Given the description of an element on the screen output the (x, y) to click on. 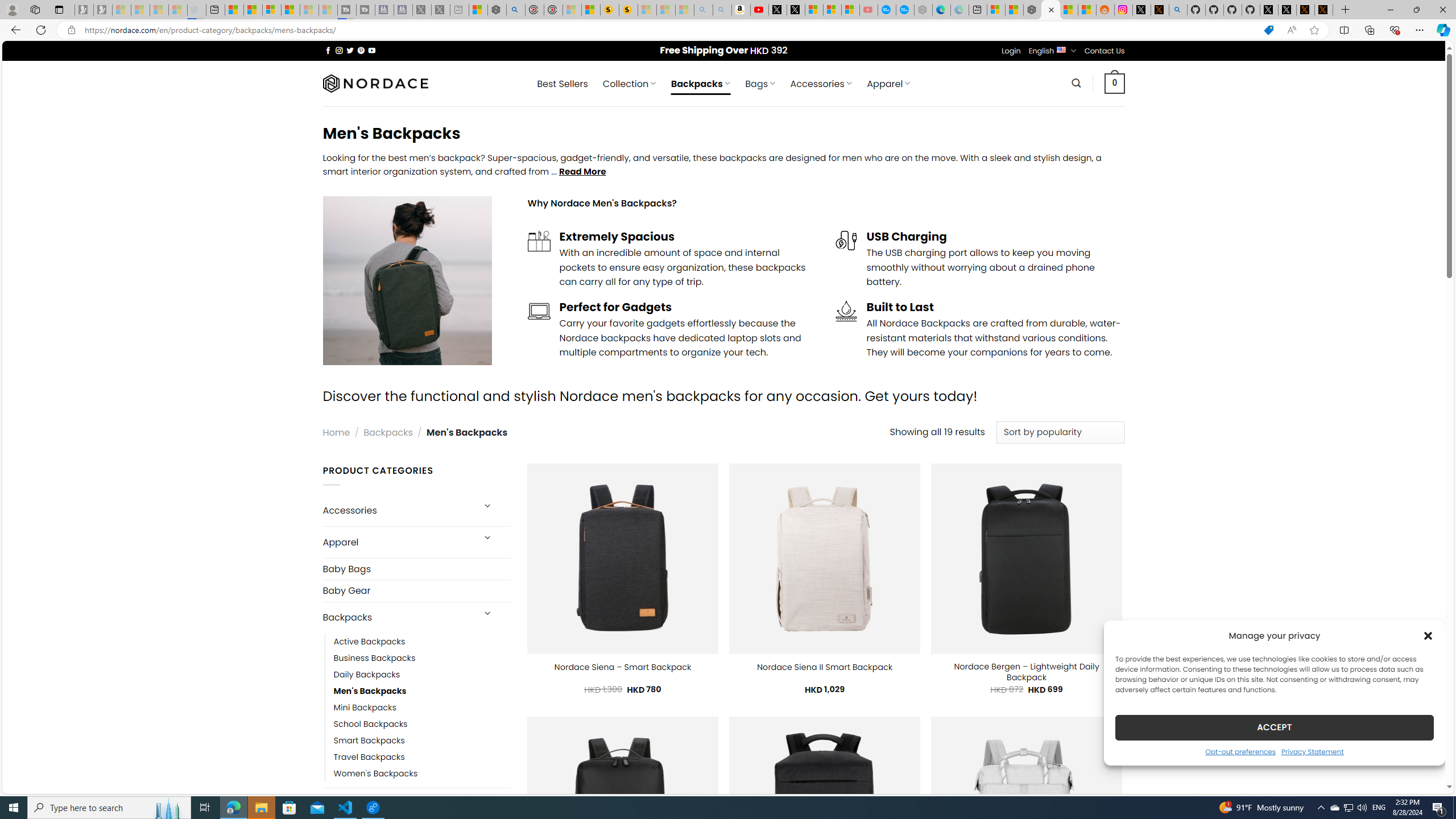
The most popular Google 'how to' searches (904, 9)
Class: cmplz-close (1428, 635)
Nordace Siena II Smart Backpack (824, 667)
Backpacks (397, 617)
Smart Backpacks (368, 740)
  0   (1115, 83)
Active Backpacks (369, 641)
ACCEPT (1274, 727)
Streaming Coverage | T3 - Sleeping (347, 9)
English (1061, 49)
